Given the description of an element on the screen output the (x, y) to click on. 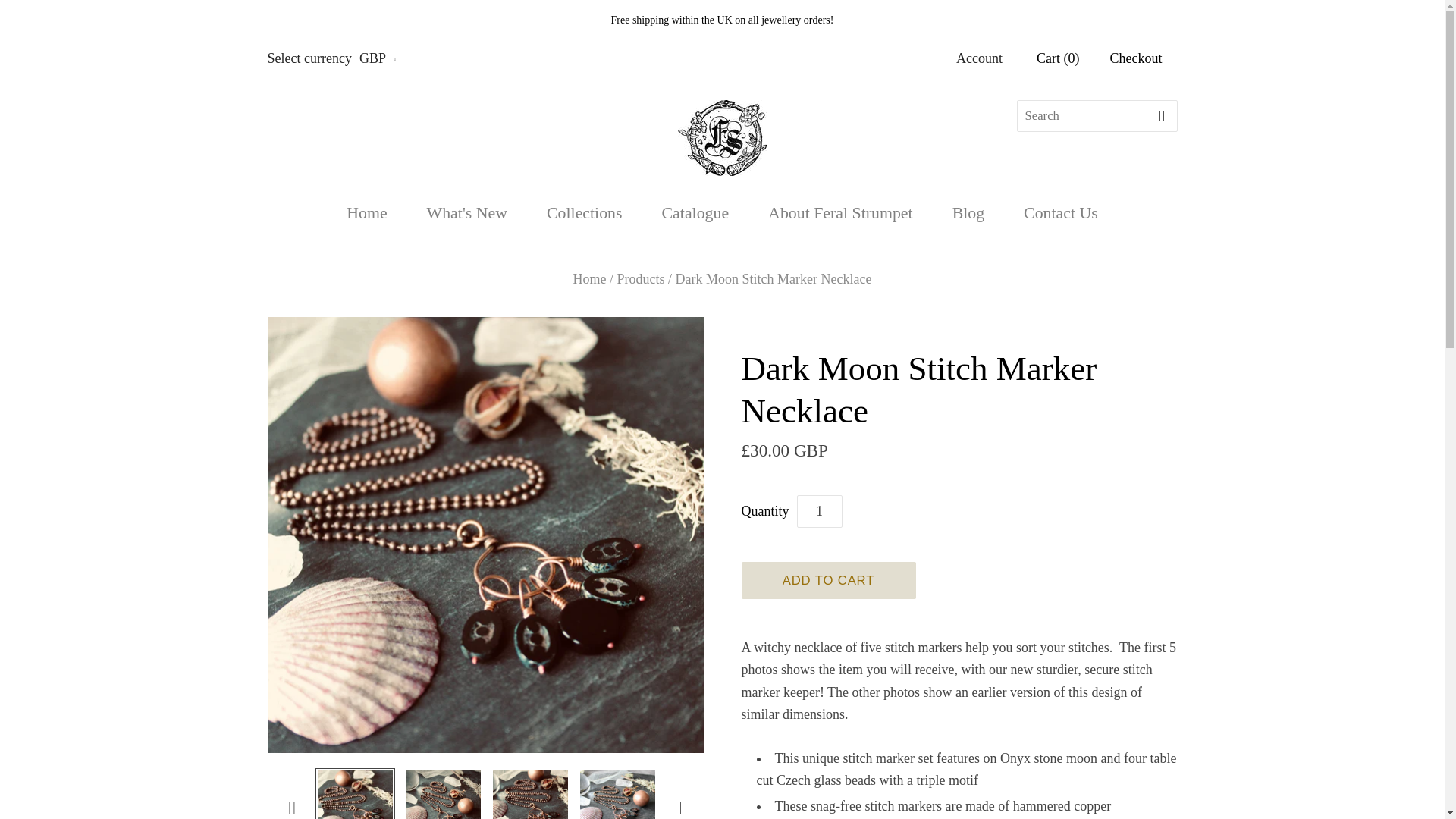
About Feral Strumpet (840, 213)
Catalogue (695, 213)
Products (641, 278)
Add to cart (828, 579)
Add to cart (828, 579)
What's New (467, 213)
Home (590, 278)
Account (979, 58)
Collections (584, 213)
Contact Us (1061, 213)
1 (818, 511)
Checkout (1135, 58)
Home (366, 213)
Blog (968, 213)
